Given the description of an element on the screen output the (x, y) to click on. 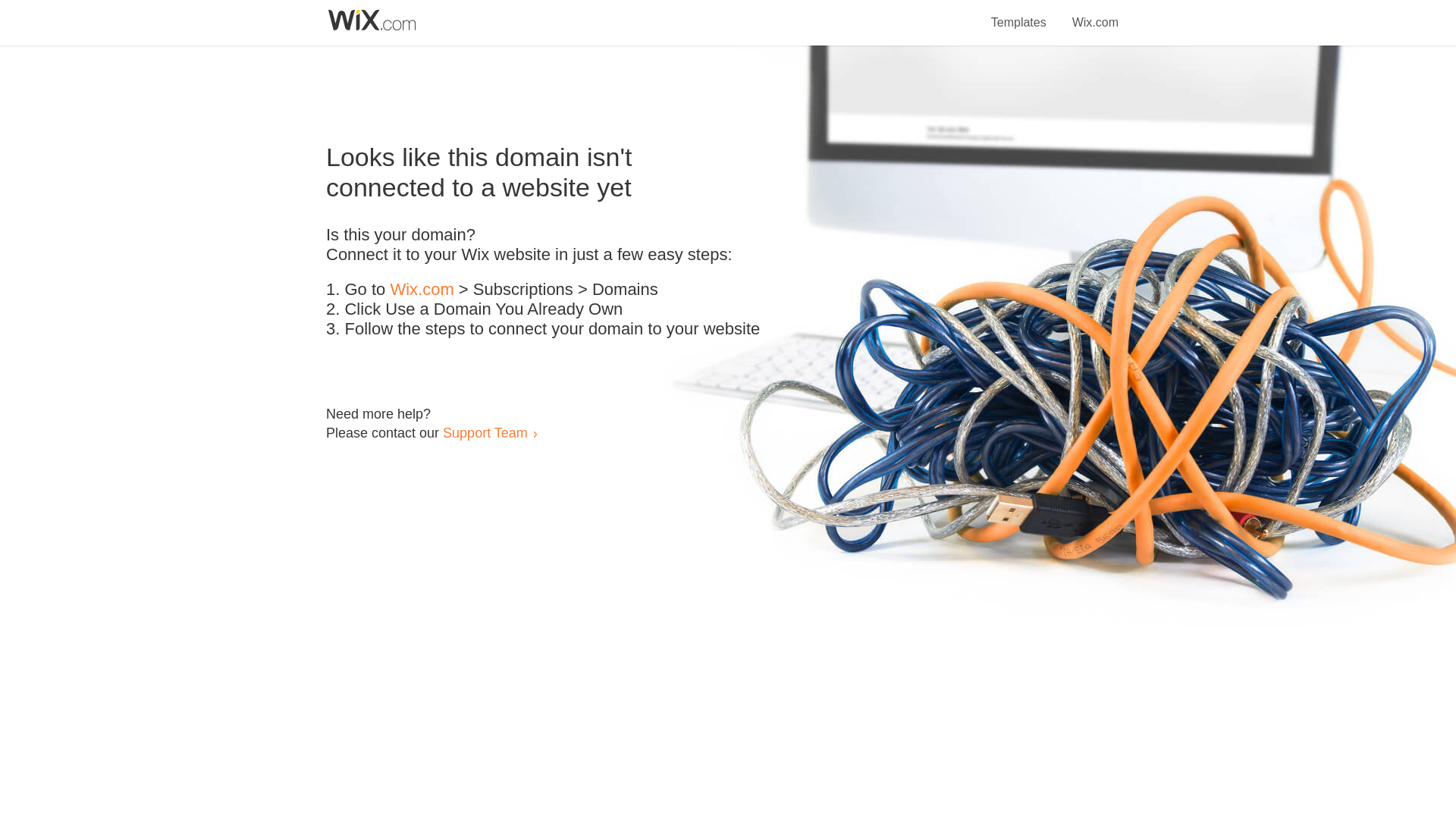
Templates (1018, 14)
Wix.com (1095, 14)
Support Team (484, 432)
Wix.com (421, 289)
